Given the description of an element on the screen output the (x, y) to click on. 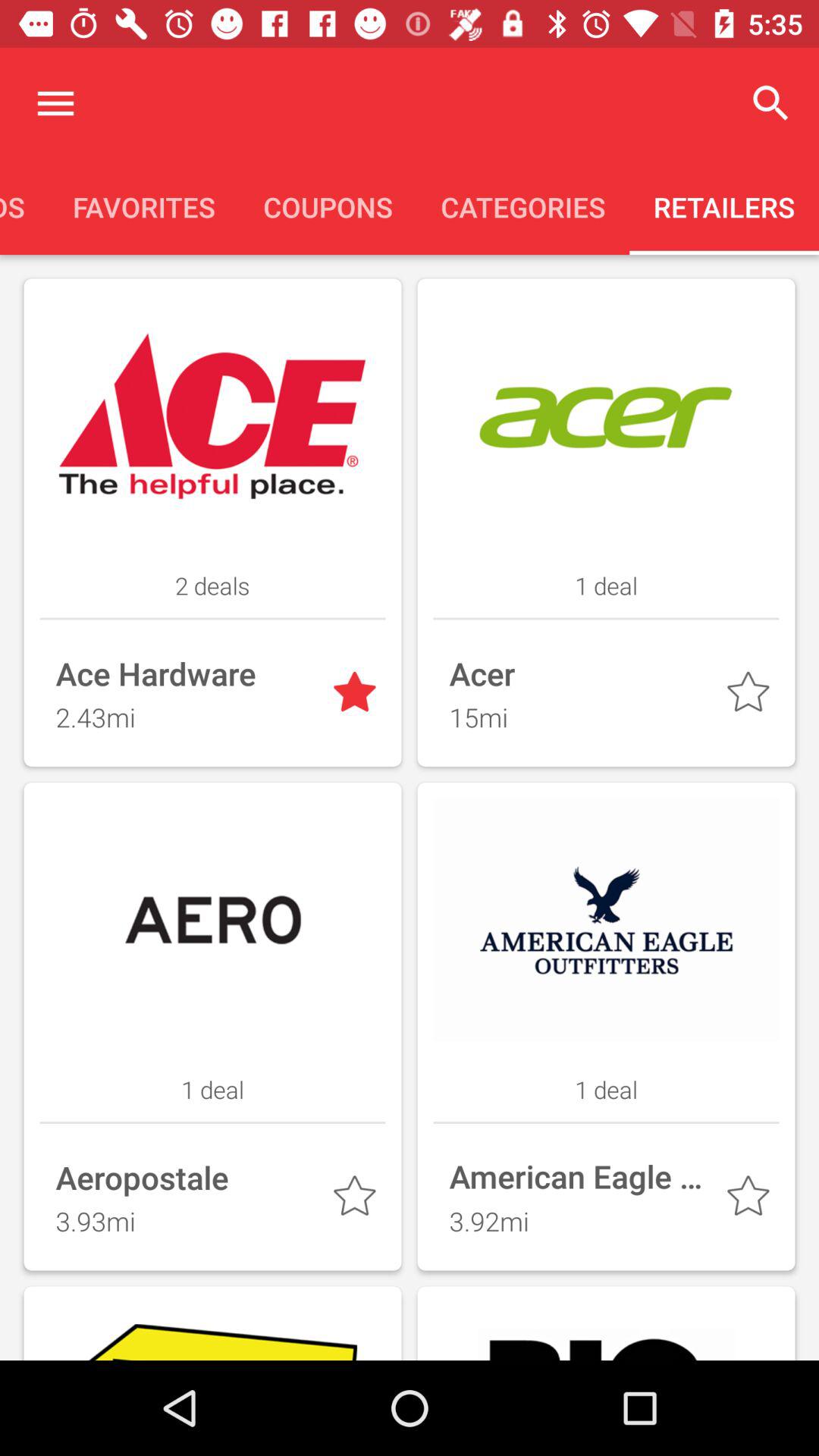
display menu options (55, 103)
